Given the description of an element on the screen output the (x, y) to click on. 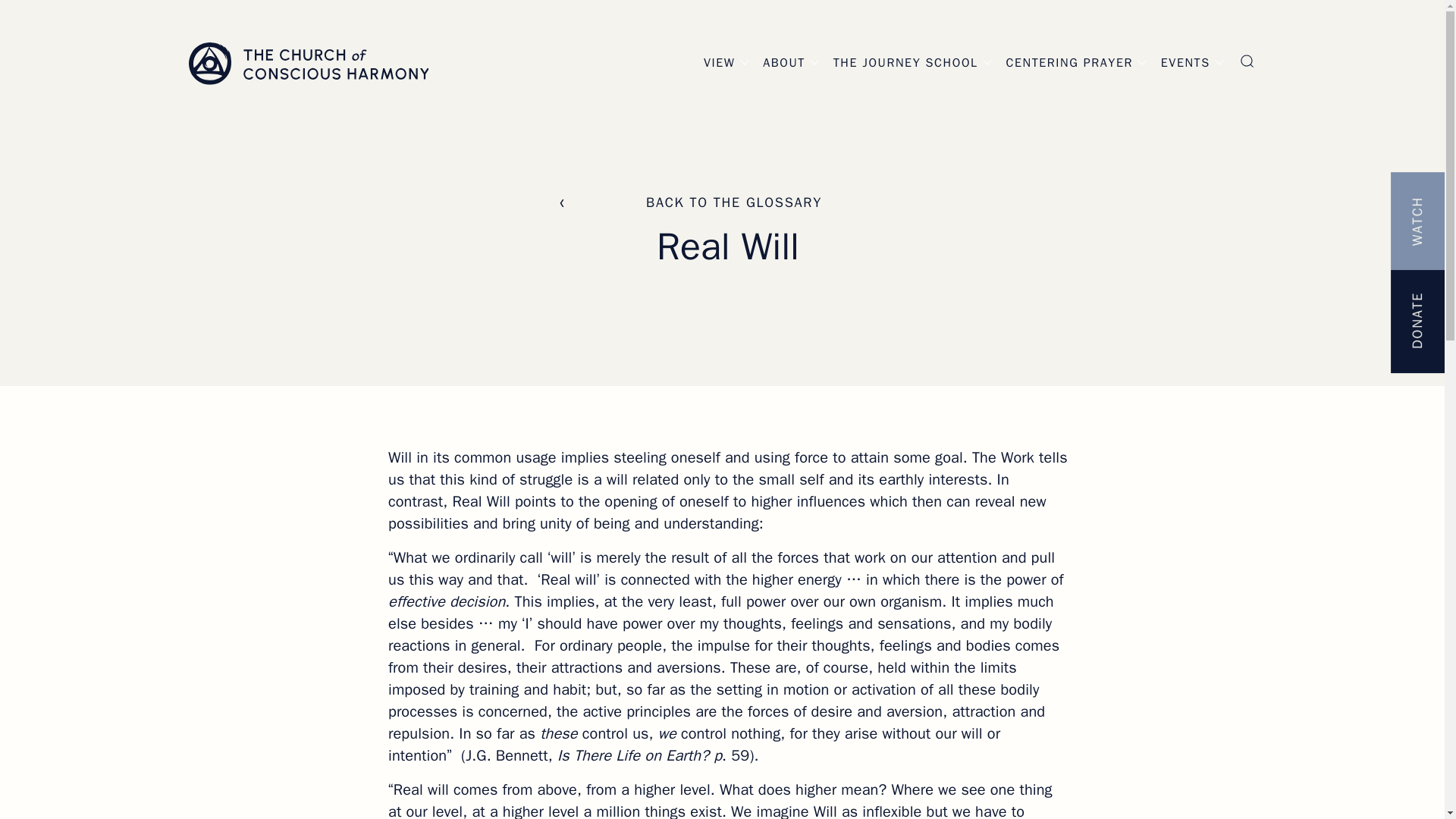
CENTERING PRAYER (1069, 62)
EVENTS (1184, 62)
THE JOURNEY SCHOOL (905, 62)
ABOUT (783, 62)
VIEW (719, 62)
